Given the description of an element on the screen output the (x, y) to click on. 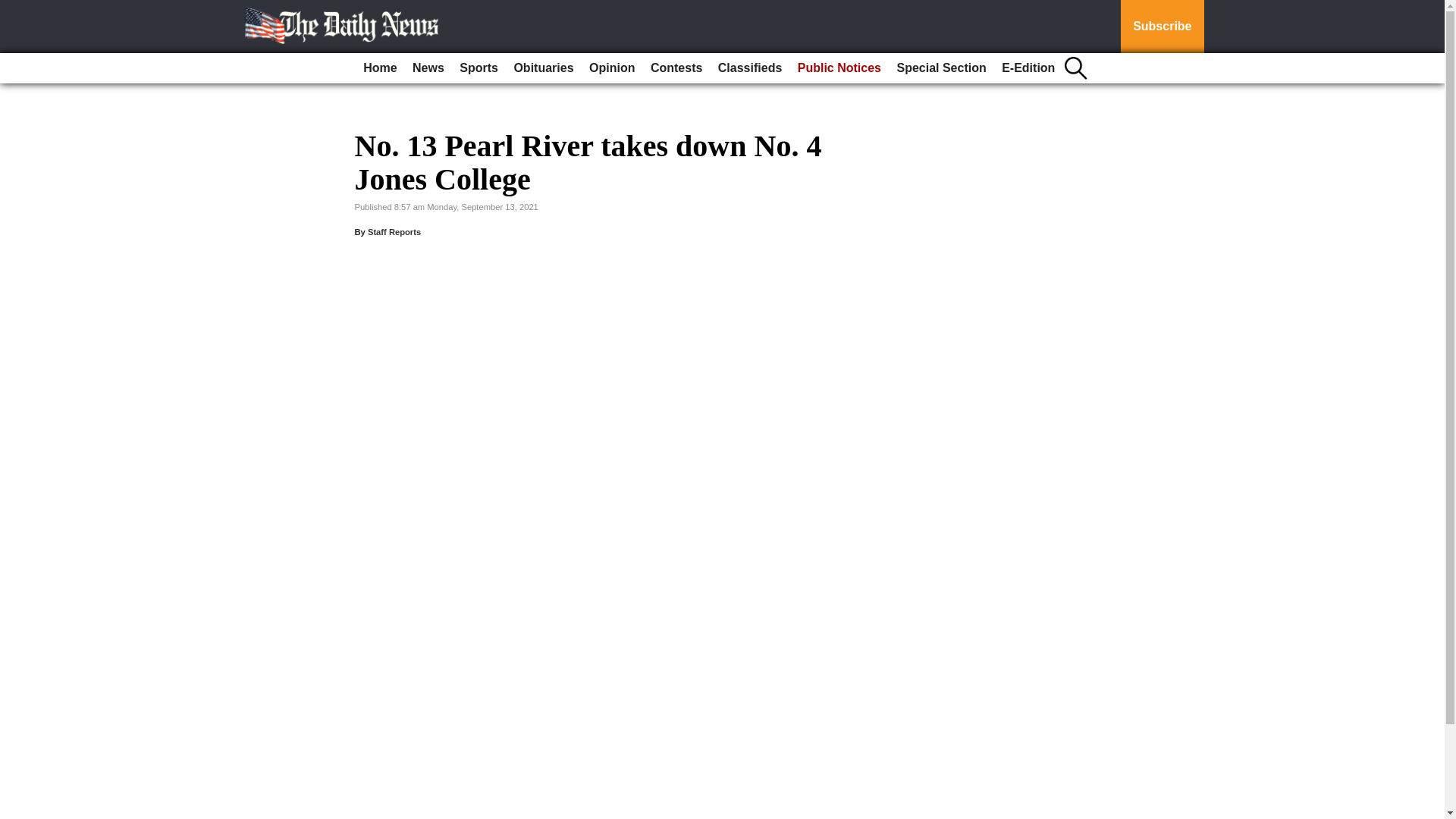
E-Edition (1028, 68)
News (427, 68)
Staff Reports (394, 231)
Go (13, 9)
Home (379, 68)
Subscribe (1162, 26)
Special Section (940, 68)
Opinion (611, 68)
Classifieds (749, 68)
Public Notices (839, 68)
